Given the description of an element on the screen output the (x, y) to click on. 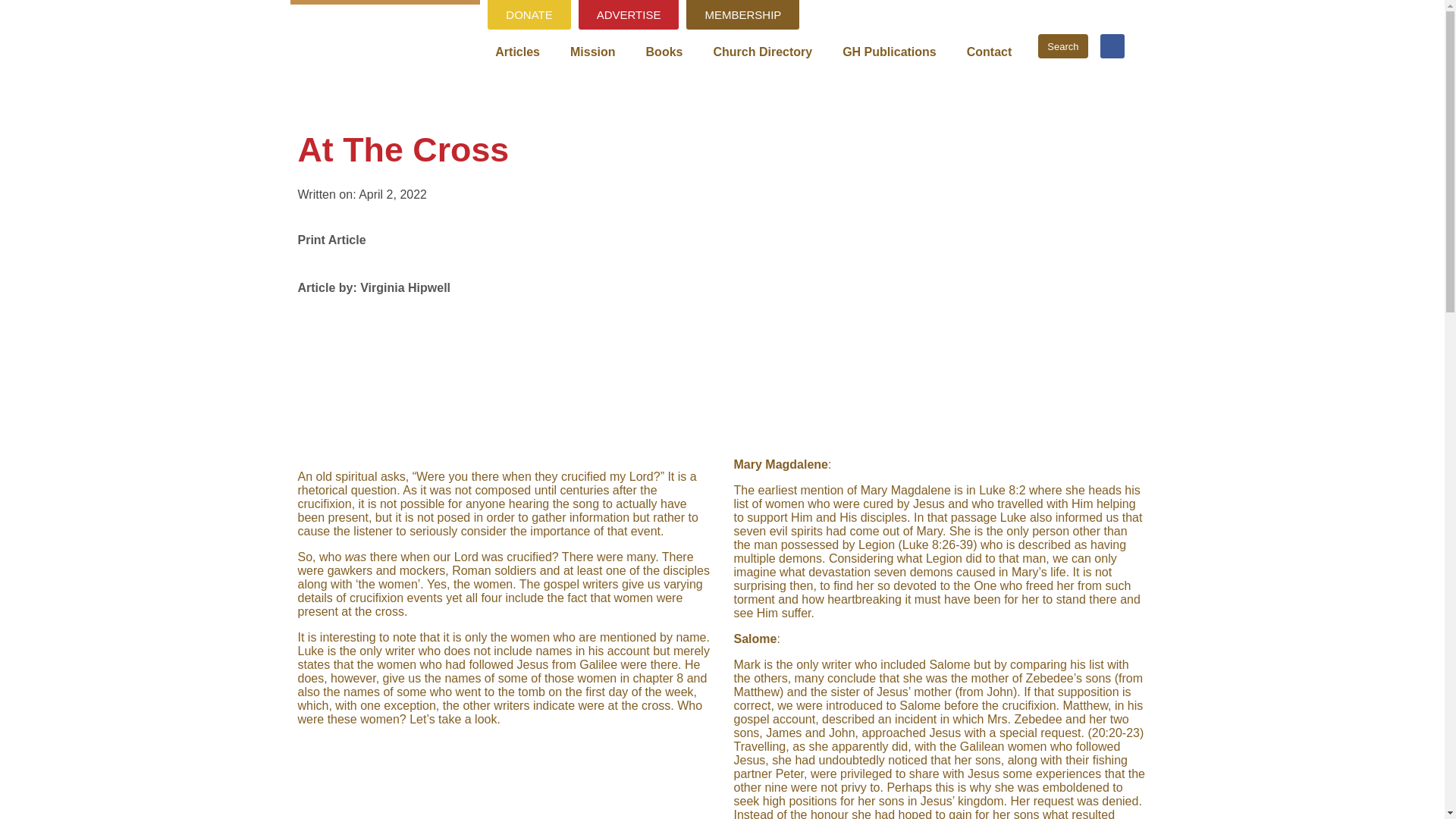
Articles (517, 52)
Books (664, 52)
Search (1062, 46)
Mission (592, 52)
GH Publications (889, 52)
Church Directory (762, 52)
Contact (989, 52)
Print Article (331, 235)
